Given the description of an element on the screen output the (x, y) to click on. 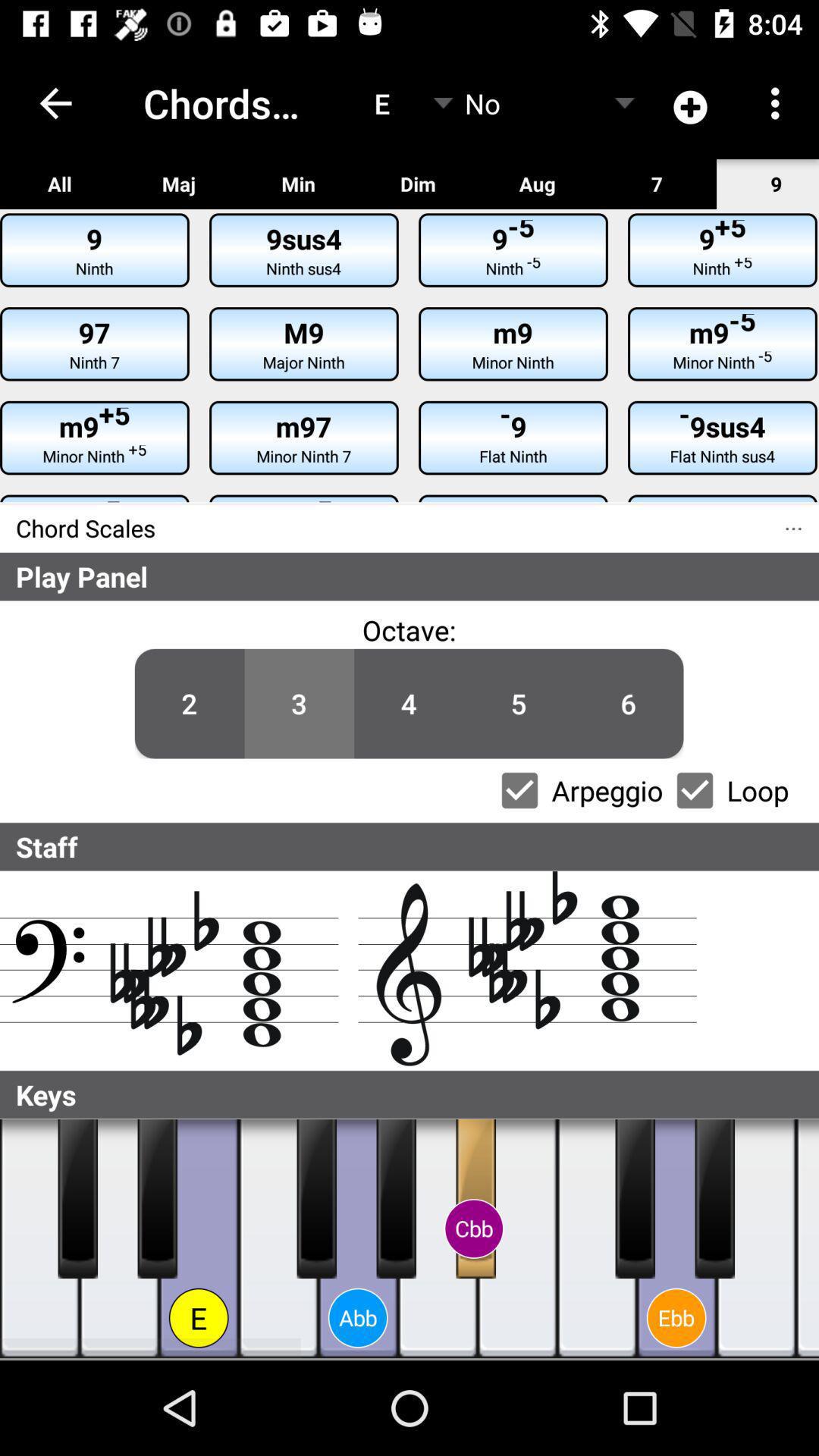
play the highlighted note f /gb (316, 1198)
